Given the description of an element on the screen output the (x, y) to click on. 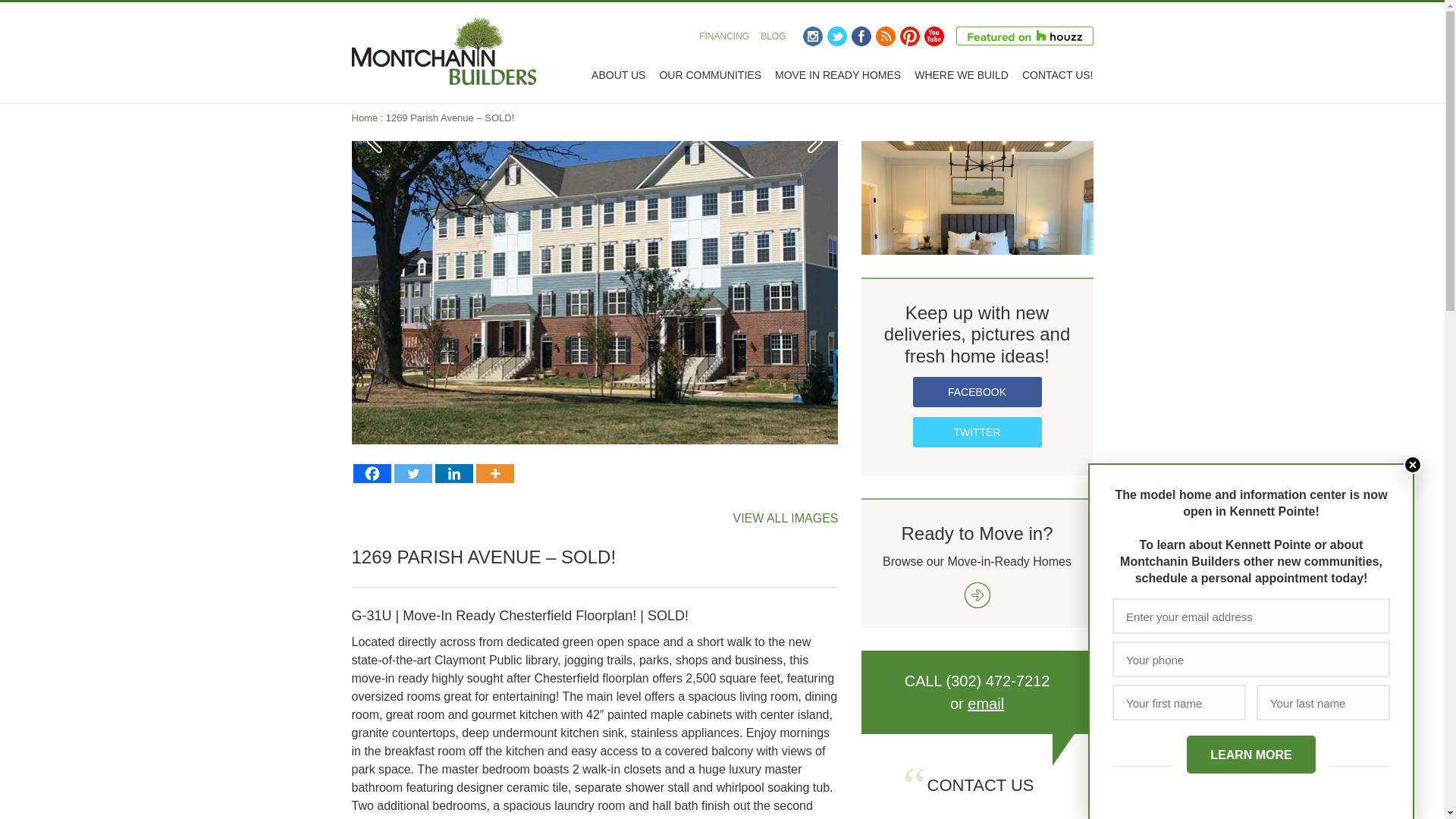
Home (365, 117)
Facebook (860, 35)
Twitter (413, 473)
Twitter (836, 35)
OUR COMMUNITIES (710, 74)
Linkedin (454, 473)
Pinterest (908, 35)
RSS (885, 35)
LEARN MORE (1251, 754)
CONTACT US! (1057, 74)
Visit our Pinterest profile (908, 35)
Follow us on Instagram (812, 35)
Visit our Facebook profile (860, 35)
Facebook (372, 473)
MOVE IN READY HOMES (837, 74)
